Given the description of an element on the screen output the (x, y) to click on. 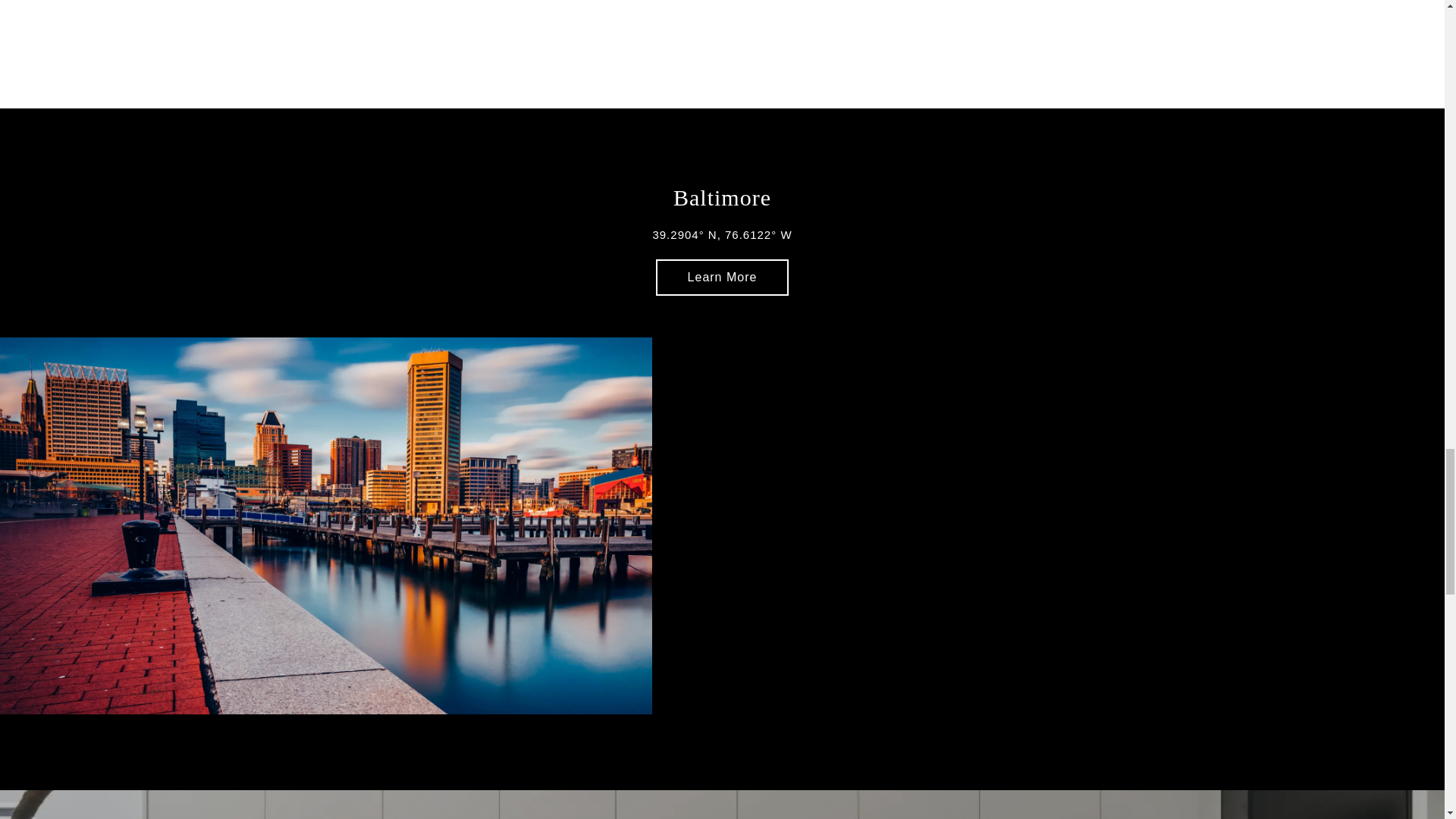
Learn More (722, 277)
